Given the description of an element on the screen output the (x, y) to click on. 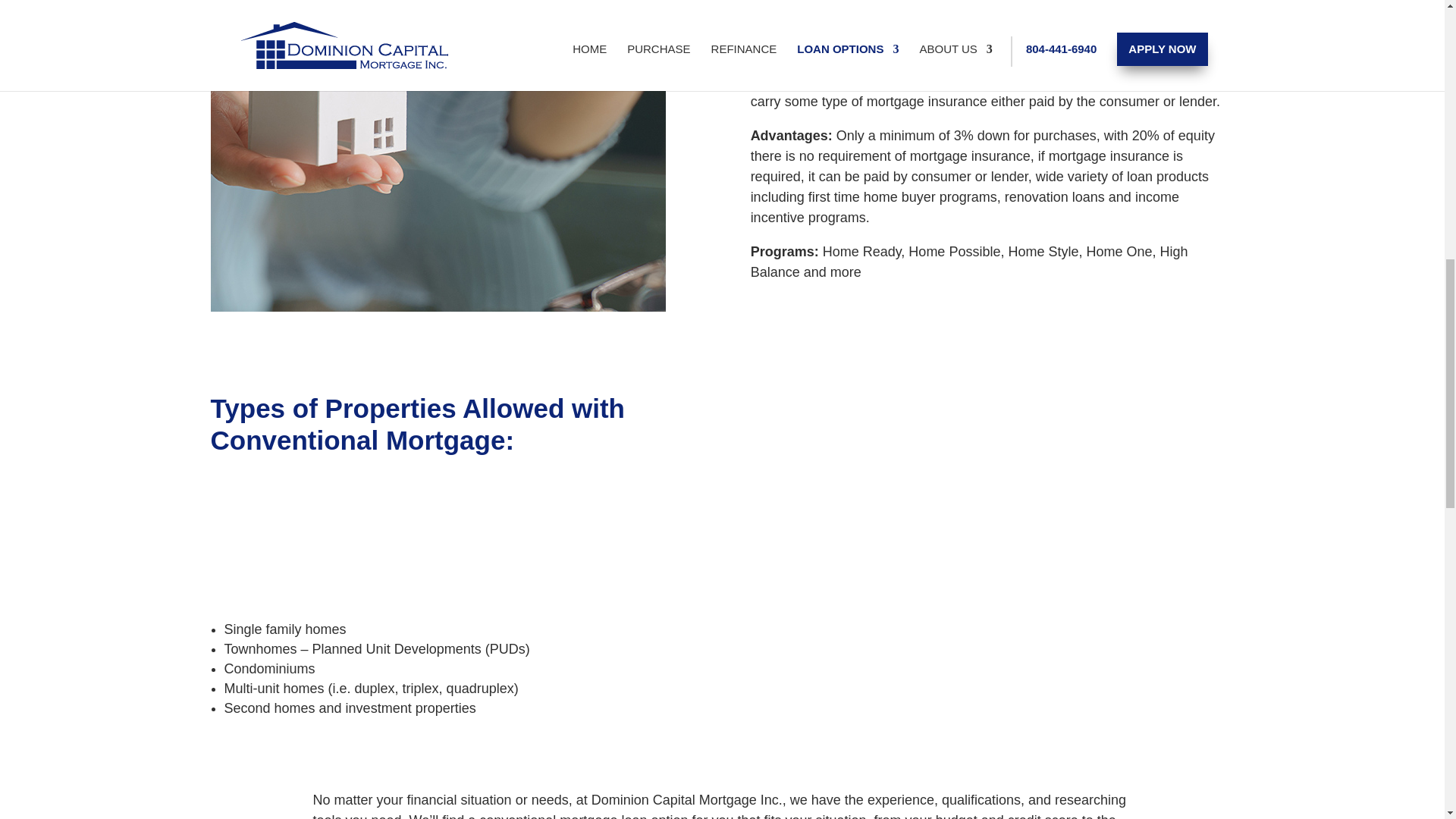
divider (324, 534)
